Given the description of an element on the screen output the (x, y) to click on. 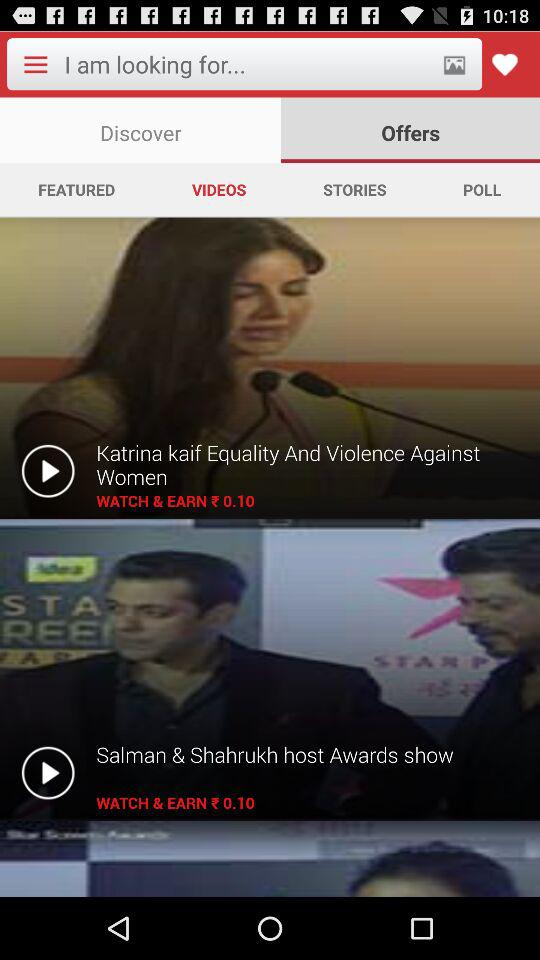
jump to stories (354, 189)
